Given the description of an element on the screen output the (x, y) to click on. 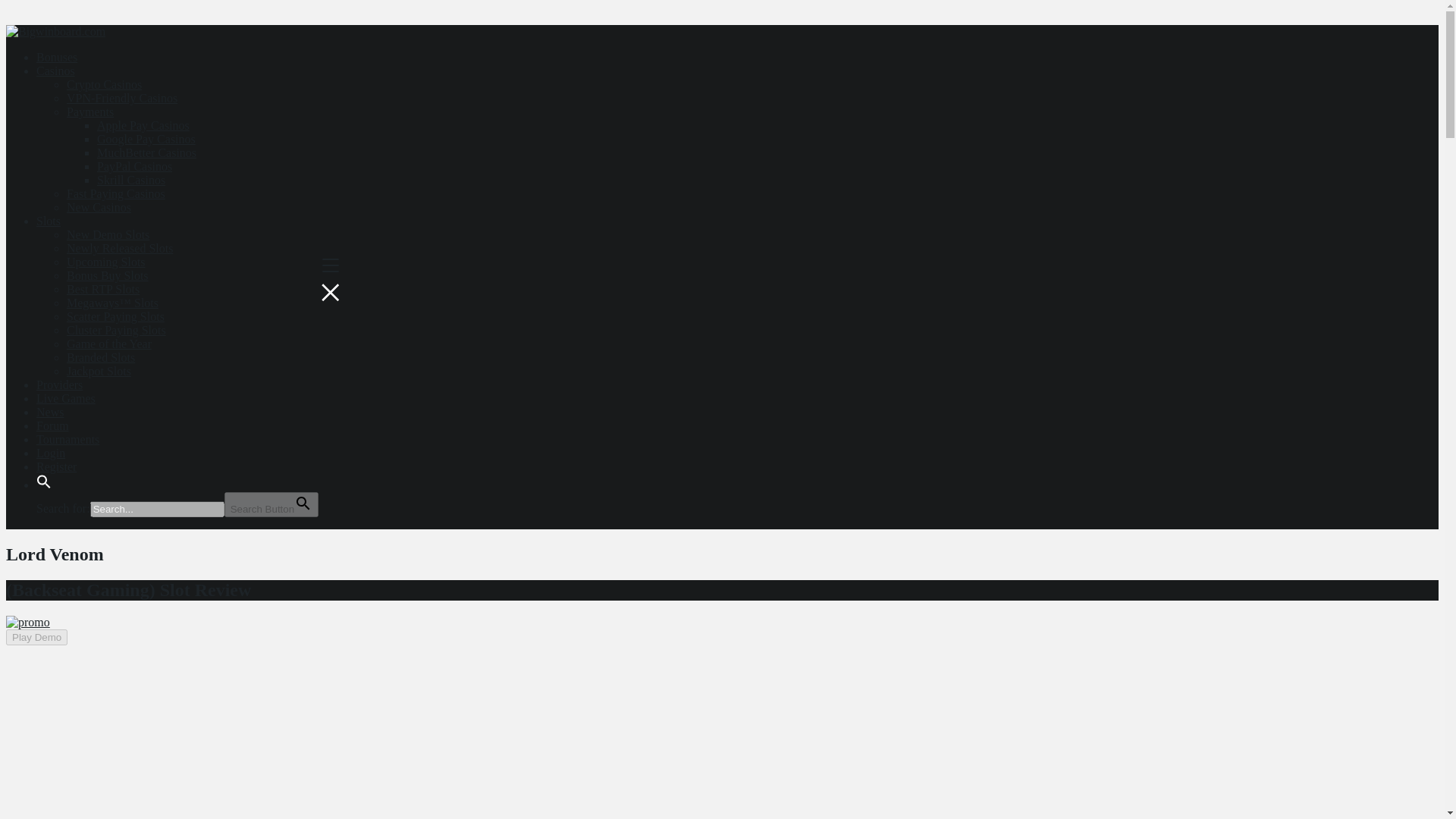
VPN-Friendly Casinos (121, 97)
Google Pay Casinos (146, 138)
Crypto Casinos (103, 83)
Bigwinboard.com (54, 31)
Casinos (55, 70)
Apple Pay Casinos (143, 124)
MuchBetter Casinos (146, 152)
Bonuses (56, 56)
Payments (89, 111)
